Given the description of an element on the screen output the (x, y) to click on. 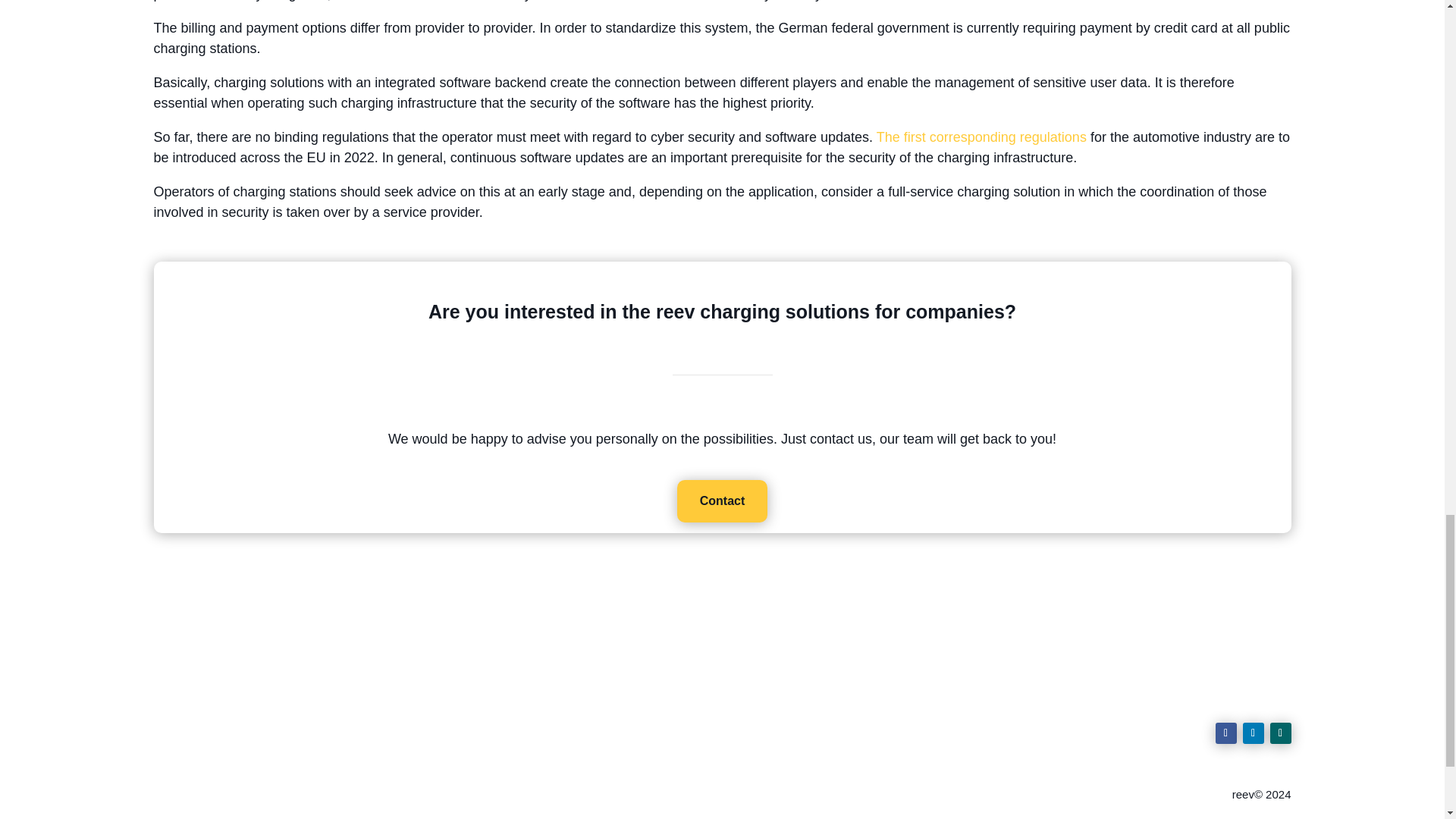
Follow on Facebook (1225, 732)
Follow on LinkedIn (1252, 732)
Follow on XING (1279, 732)
